Given the description of an element on the screen output the (x, y) to click on. 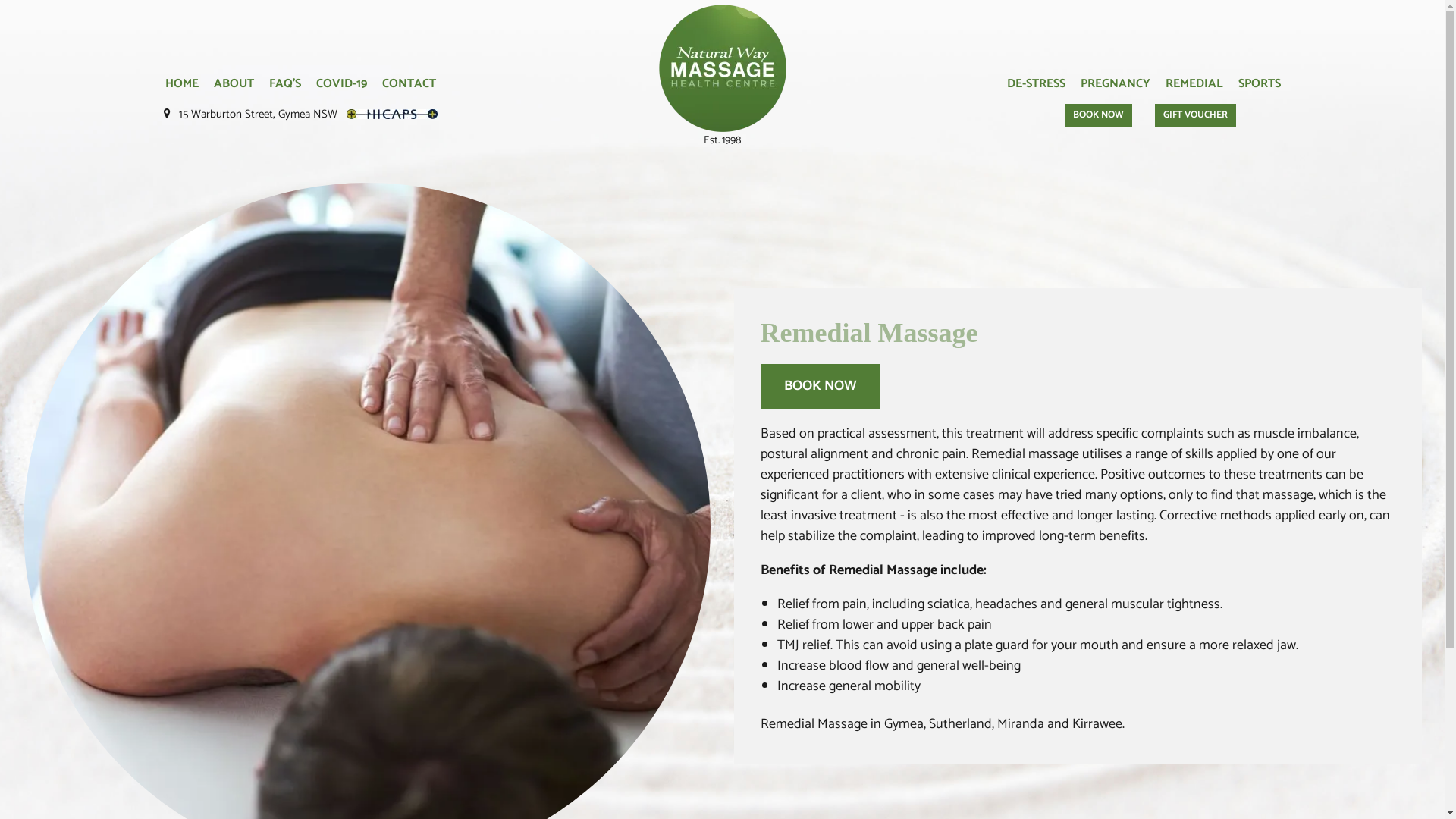
BOOK NOW Element type: text (1098, 115)
REMEDIAL Element type: text (1193, 83)
SPORTS Element type: text (1259, 83)
HOME Element type: text (181, 83)
ABOUT Element type: text (233, 83)
CONTACT Element type: text (408, 83)
COVID-19 Element type: text (341, 83)
DE-STRESS Element type: text (1036, 83)
FAQ'S Element type: text (284, 83)
PREGNANCY Element type: text (1115, 83)
BOOK NOW Element type: text (819, 386)
GIFT VOUCHER Element type: text (1195, 115)
